Given the description of an element on the screen output the (x, y) to click on. 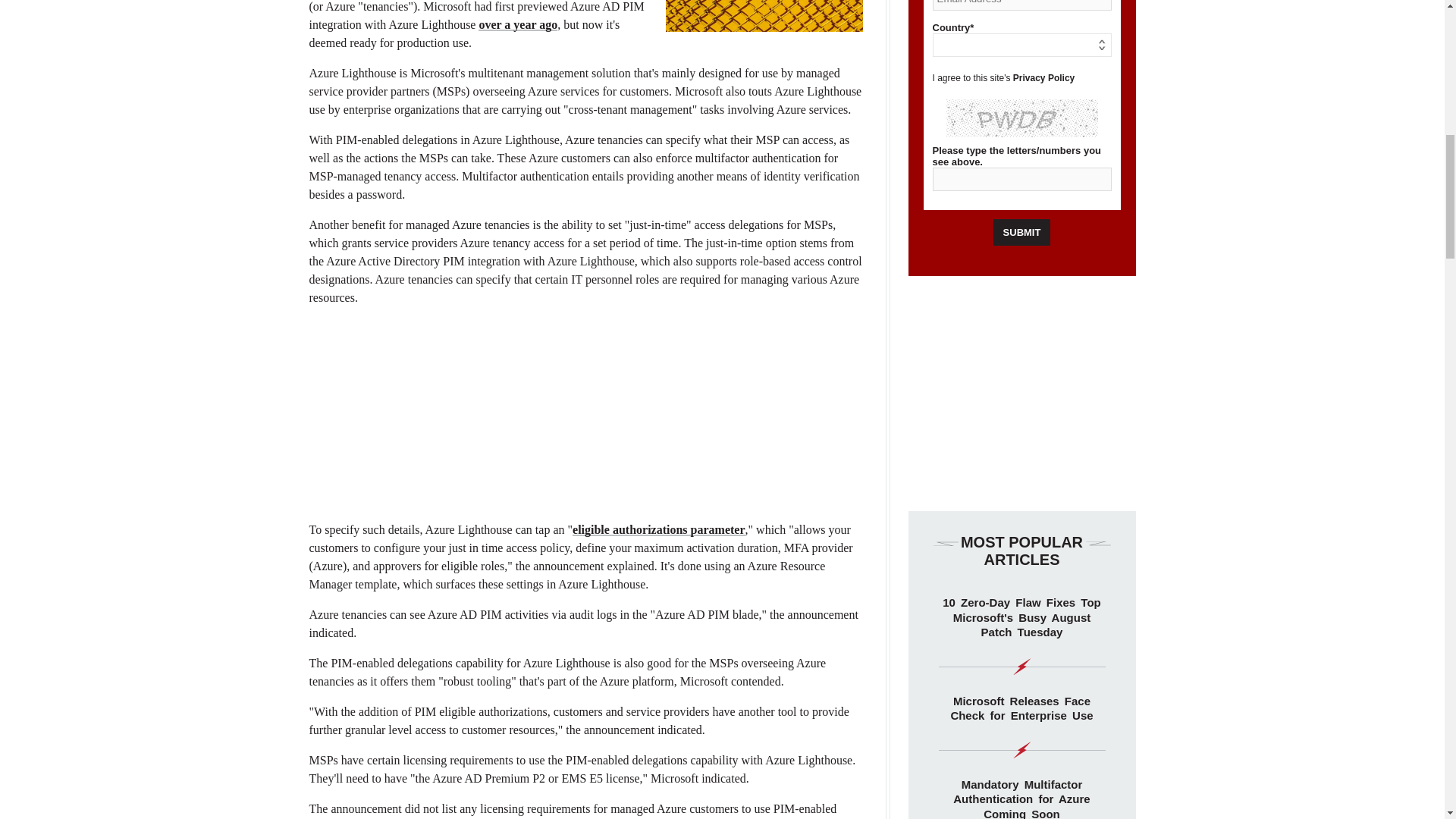
3rd party ad content (1021, 393)
3rd party ad content (584, 413)
eligible authorizations parameter (658, 529)
Submit (1021, 232)
over a year ago (518, 24)
